Given the description of an element on the screen output the (x, y) to click on. 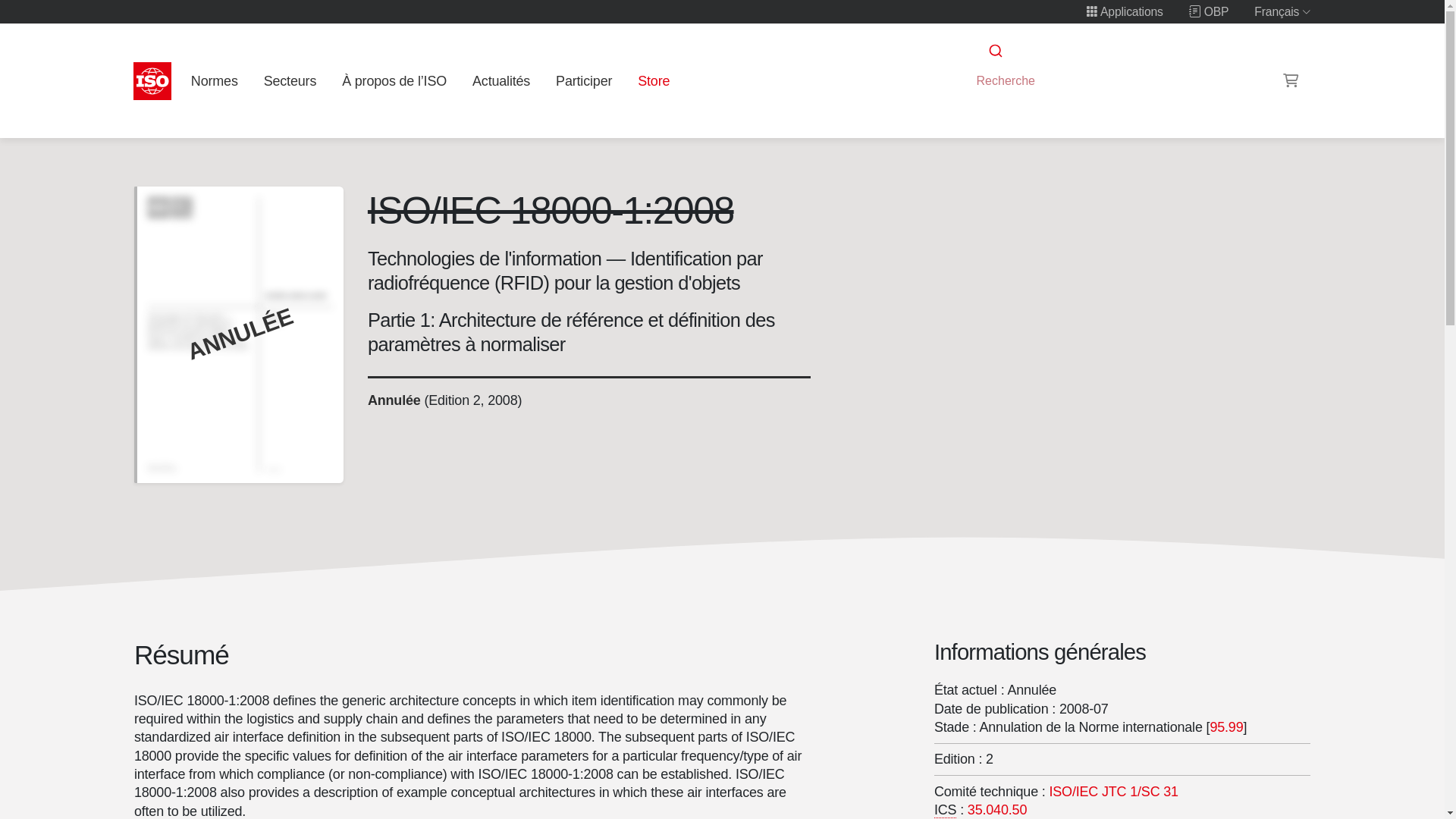
Plateforme de consultation en ligne (1208, 11)
Panier d'achat (1290, 80)
95.99 (1226, 726)
Portail des applications de l'ISO (1124, 11)
35.040.50 (997, 809)
95.99 (1226, 726)
Secteurs (290, 80)
Organisation internationale de normalisation (152, 80)
Store (654, 80)
Participer (584, 80)
Normes (214, 80)
 OBP (1208, 11)
Cycle de vie (393, 400)
Submit (993, 51)
 Applications (1124, 11)
